Given the description of an element on the screen output the (x, y) to click on. 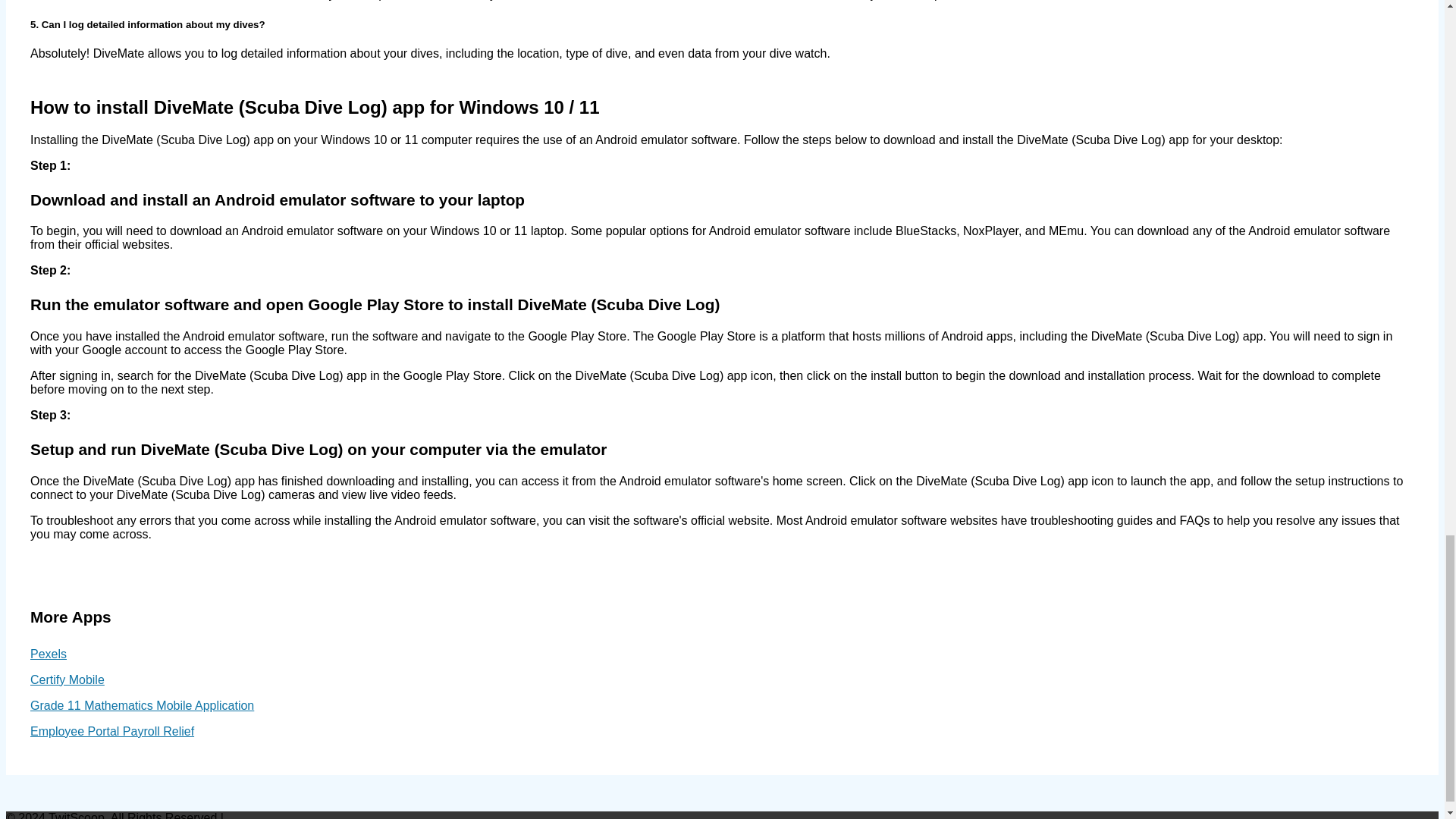
Pexels (48, 653)
Grade 11 Mathematics Mobile Application (141, 705)
Certify Mobile (67, 679)
Employee Portal Payroll Relief (111, 730)
